Given the description of an element on the screen output the (x, y) to click on. 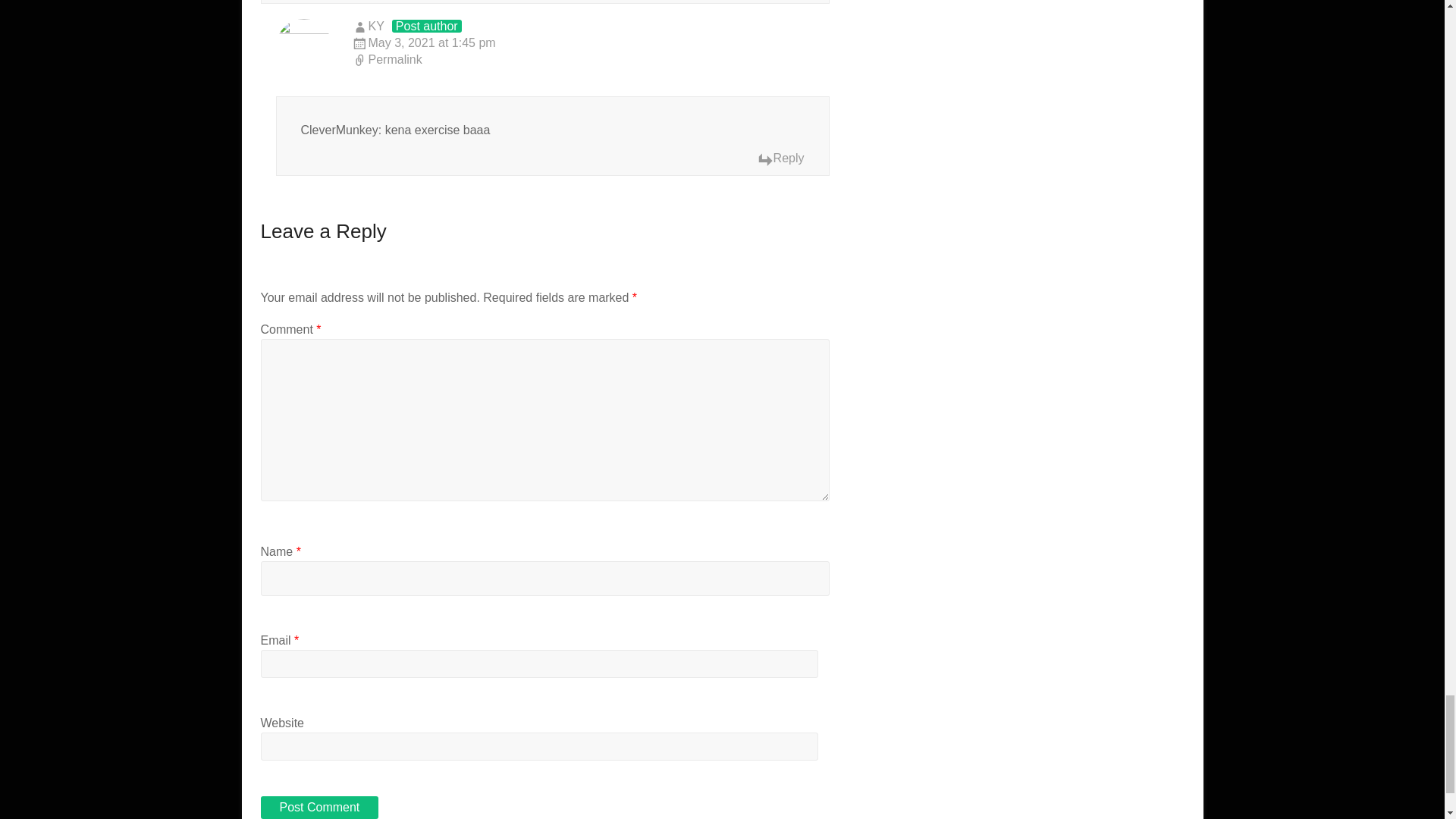
Post Comment (319, 807)
